Given the description of an element on the screen output the (x, y) to click on. 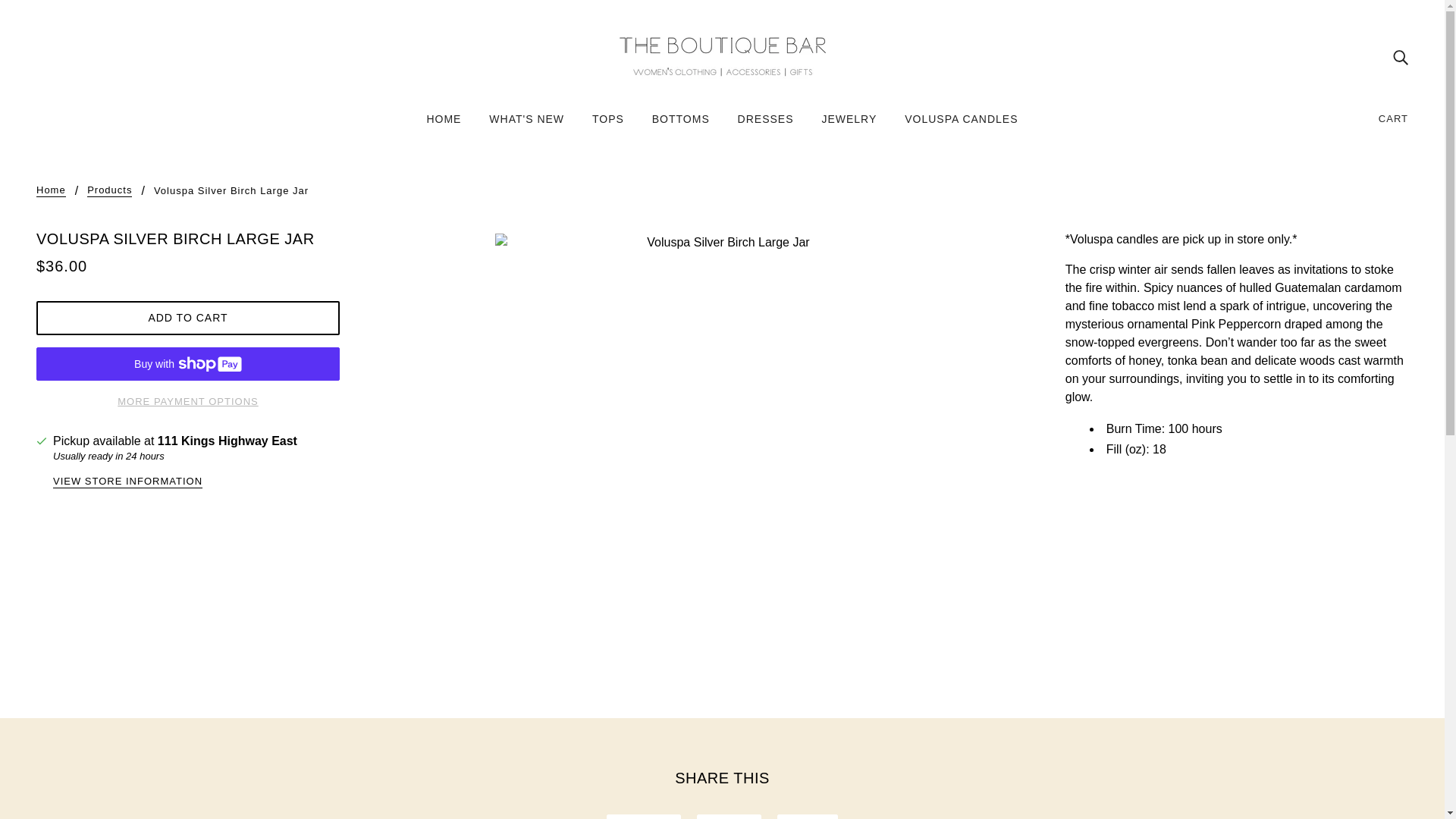
Like (729, 816)
MORE PAYMENT OPTIONS (187, 395)
JEWELRY (848, 124)
Pin (807, 816)
TOPS (607, 124)
CART (1394, 118)
THE BOUTIQUE BAR (721, 55)
ADD TO CART (187, 317)
Home (50, 191)
HOME (443, 124)
WHAT'S NEW (526, 124)
VIEW STORE INFORMATION (127, 481)
BOTTOMS (681, 124)
VOLUSPA CANDLES (960, 124)
Products (109, 191)
